Given the description of an element on the screen output the (x, y) to click on. 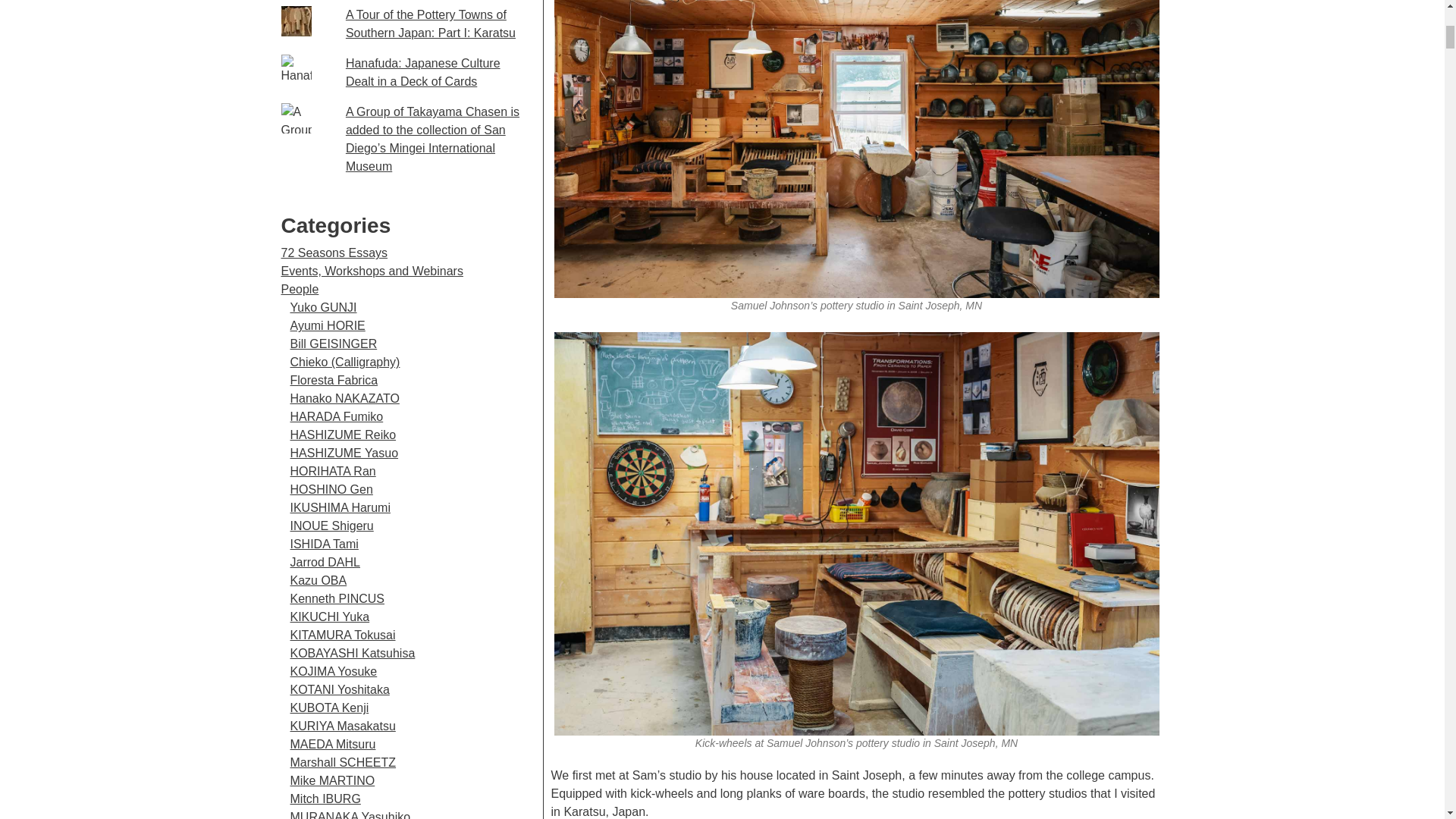
72 Seasons Essays (334, 252)
People (299, 288)
Ayumi HORIE (327, 325)
Events, Workshops and Webinars (372, 270)
Floresta Fabrica (333, 379)
Yuko GUNJI (322, 307)
Bill GEISINGER (333, 343)
Hanafuda: Japanese Culture Dealt in a Deck of Cards (423, 71)
